Given the description of an element on the screen output the (x, y) to click on. 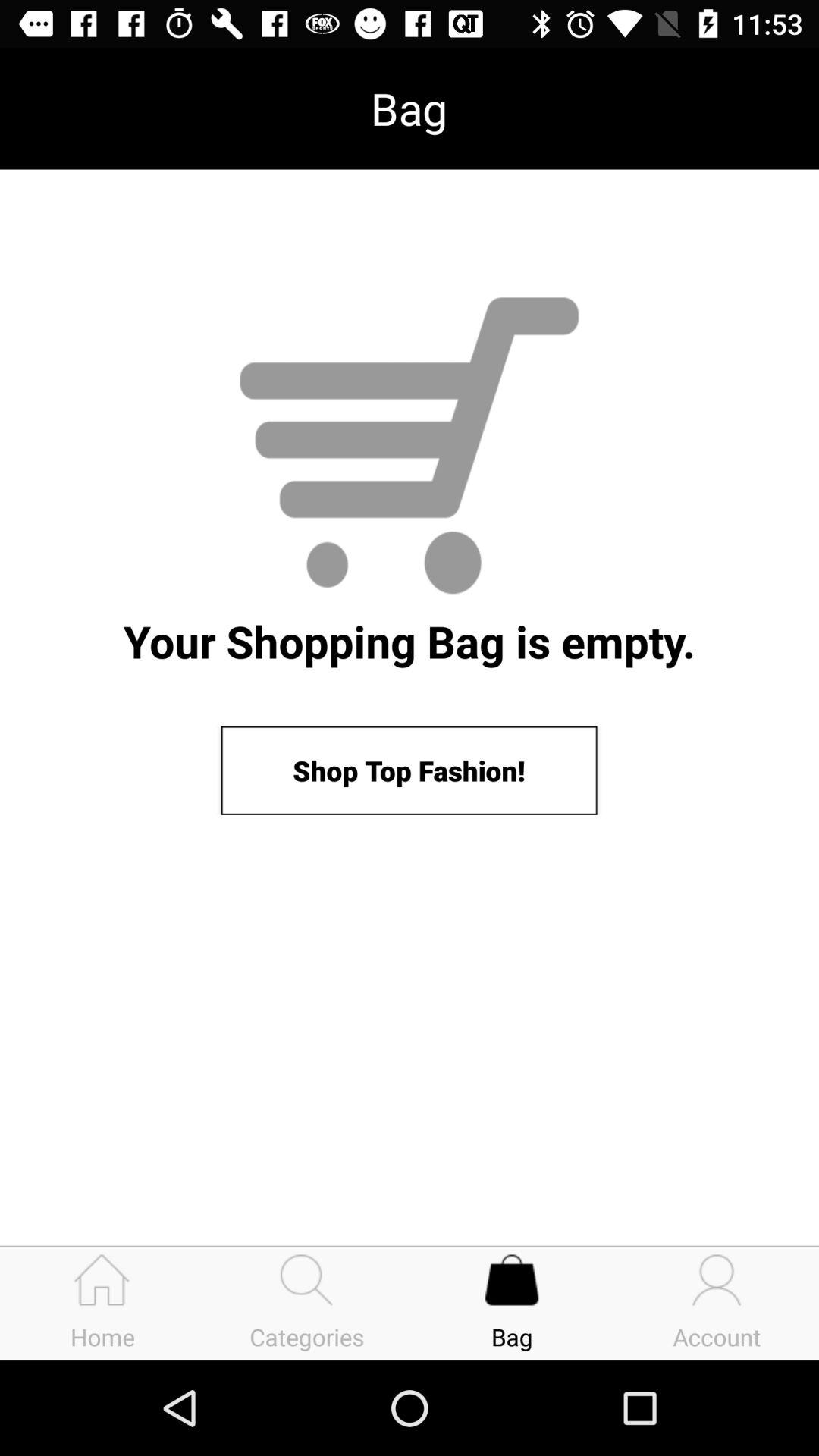
press the shop top fashion! item (409, 770)
